Given the description of an element on the screen output the (x, y) to click on. 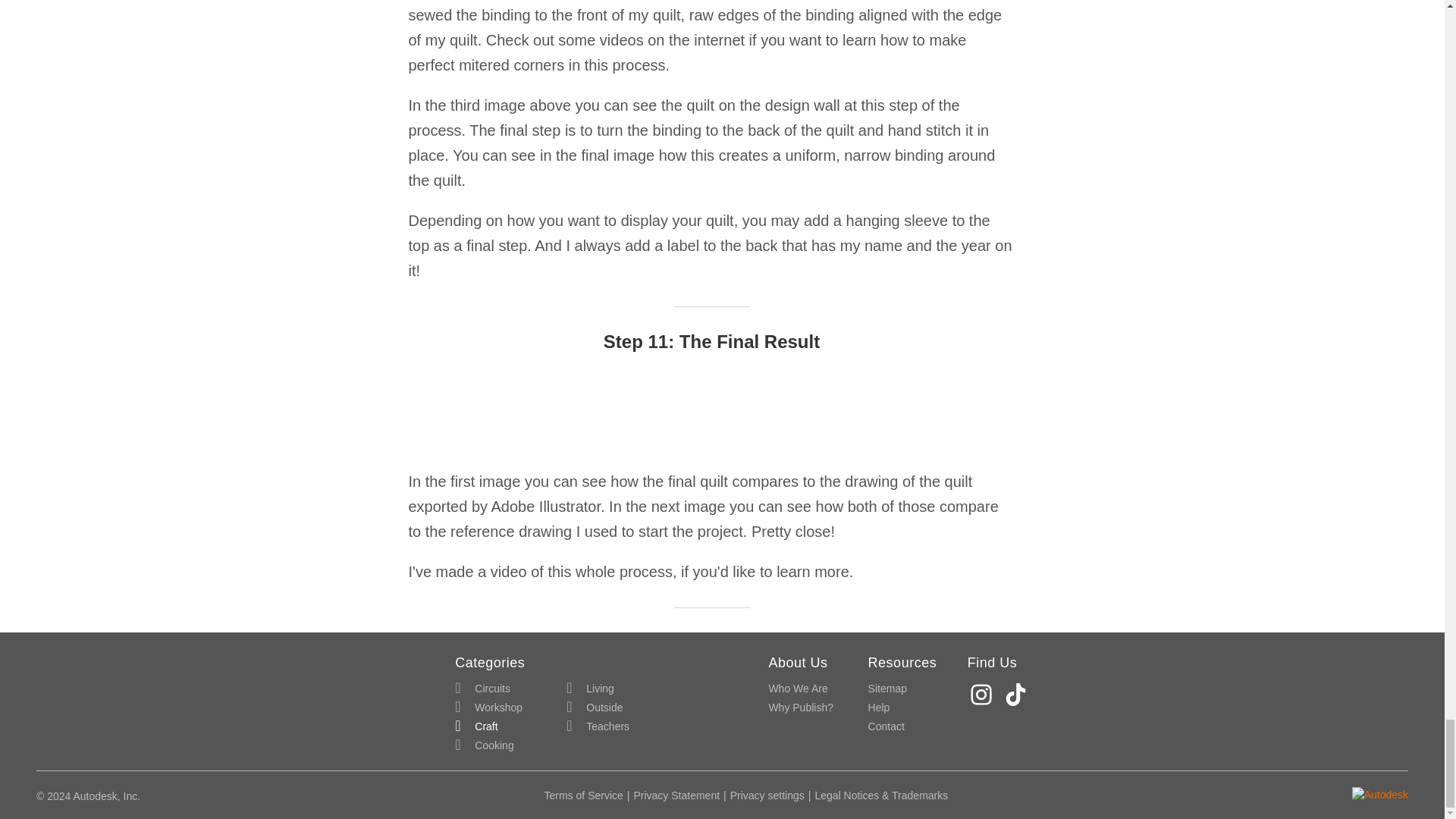
Help (878, 707)
Circuits (482, 688)
Terms of Service (583, 795)
Privacy settings (767, 795)
Sitemap (887, 688)
Privacy Statement (676, 795)
Instagram (983, 694)
Craft (475, 726)
Outside (594, 707)
Teachers (597, 726)
